Given the description of an element on the screen output the (x, y) to click on. 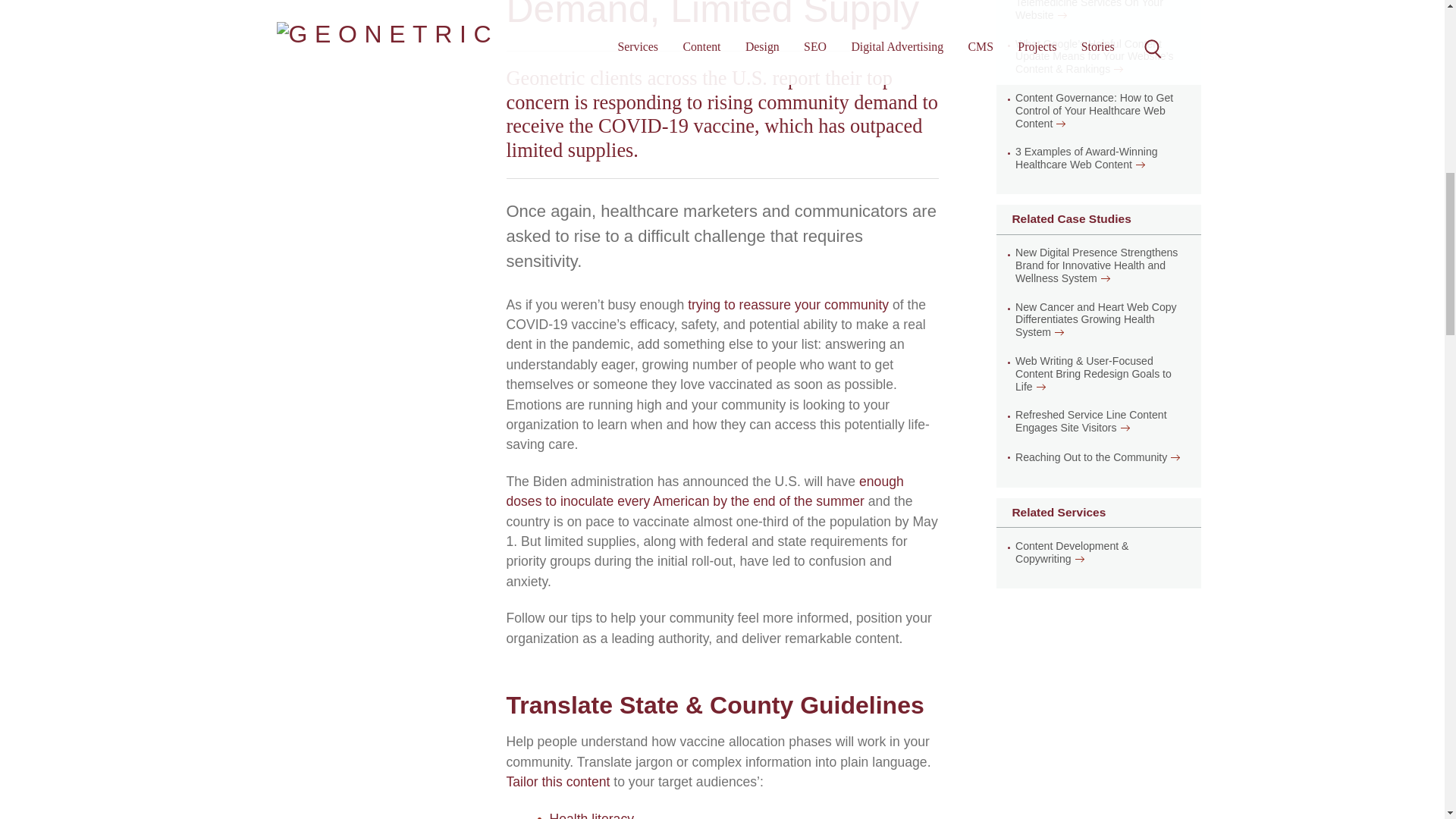
3 Examples of Award-Winning Healthcare Web Content (1100, 158)
Tailor this content (558, 781)
Refreshed Service Line Content Engages Site Visitors (1100, 421)
Health literacy (590, 815)
Reaching Out to the Community (1090, 457)
trying to reassure your community (787, 304)
